Given the description of an element on the screen output the (x, y) to click on. 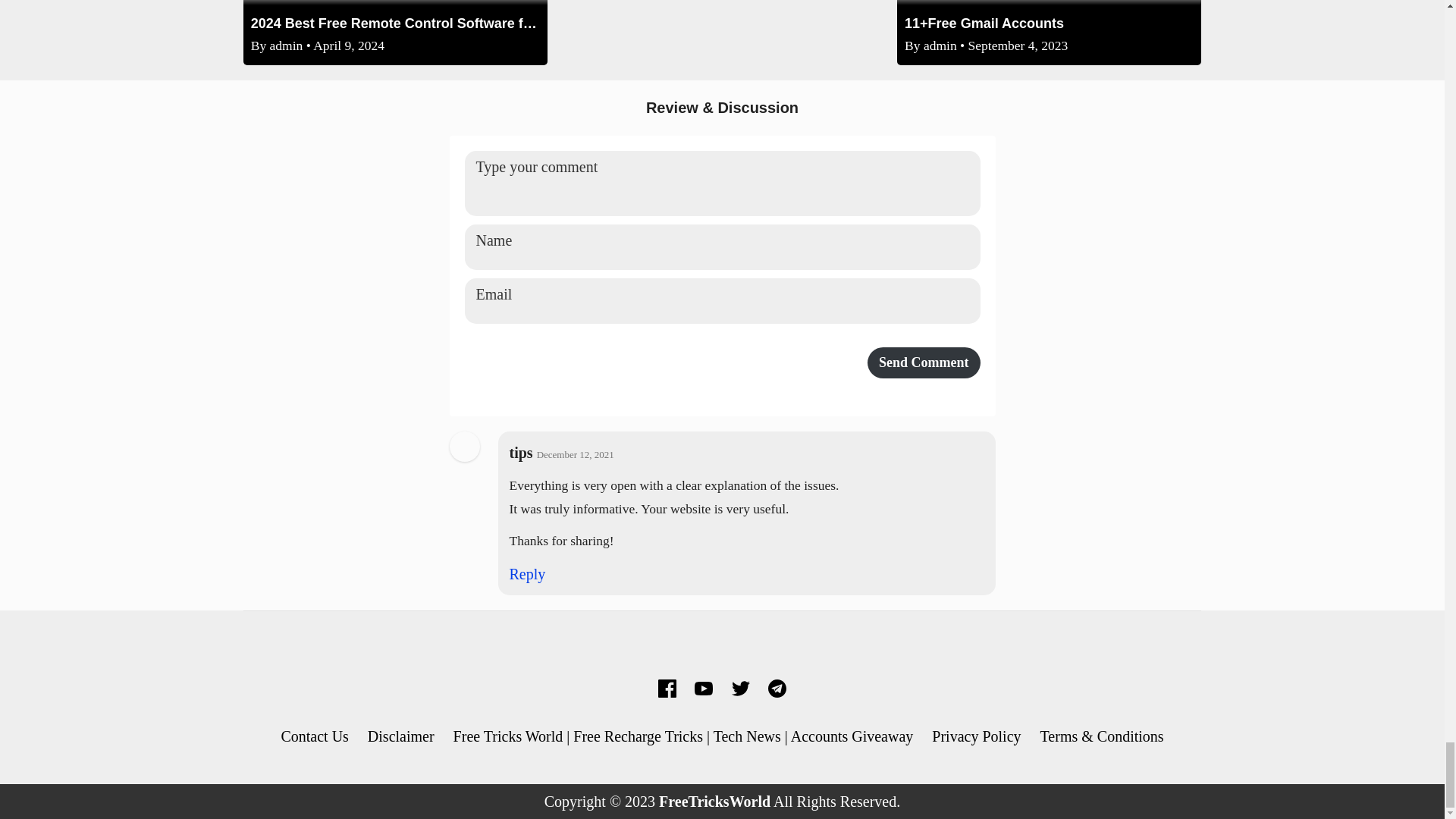
Send Comment (923, 362)
Contact Us (314, 736)
Reply (527, 573)
Send Comment (923, 362)
